Given the description of an element on the screen output the (x, y) to click on. 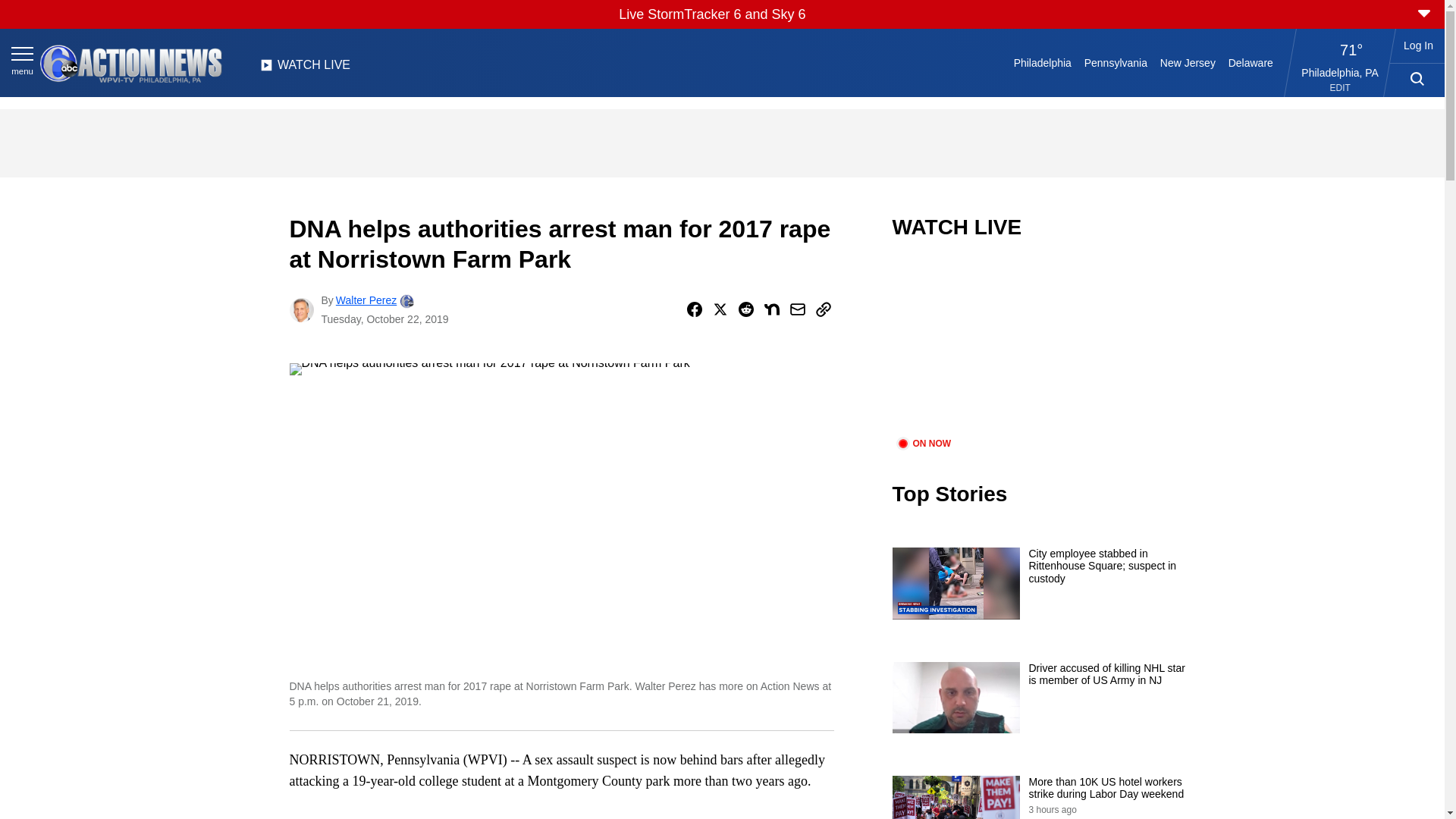
Pennsylvania (1115, 62)
Delaware (1250, 62)
WATCH LIVE (305, 69)
EDIT (1340, 87)
Philadelphia (1042, 62)
video.title (1043, 347)
New Jersey (1187, 62)
Philadelphia, PA (1339, 72)
